Given the description of an element on the screen output the (x, y) to click on. 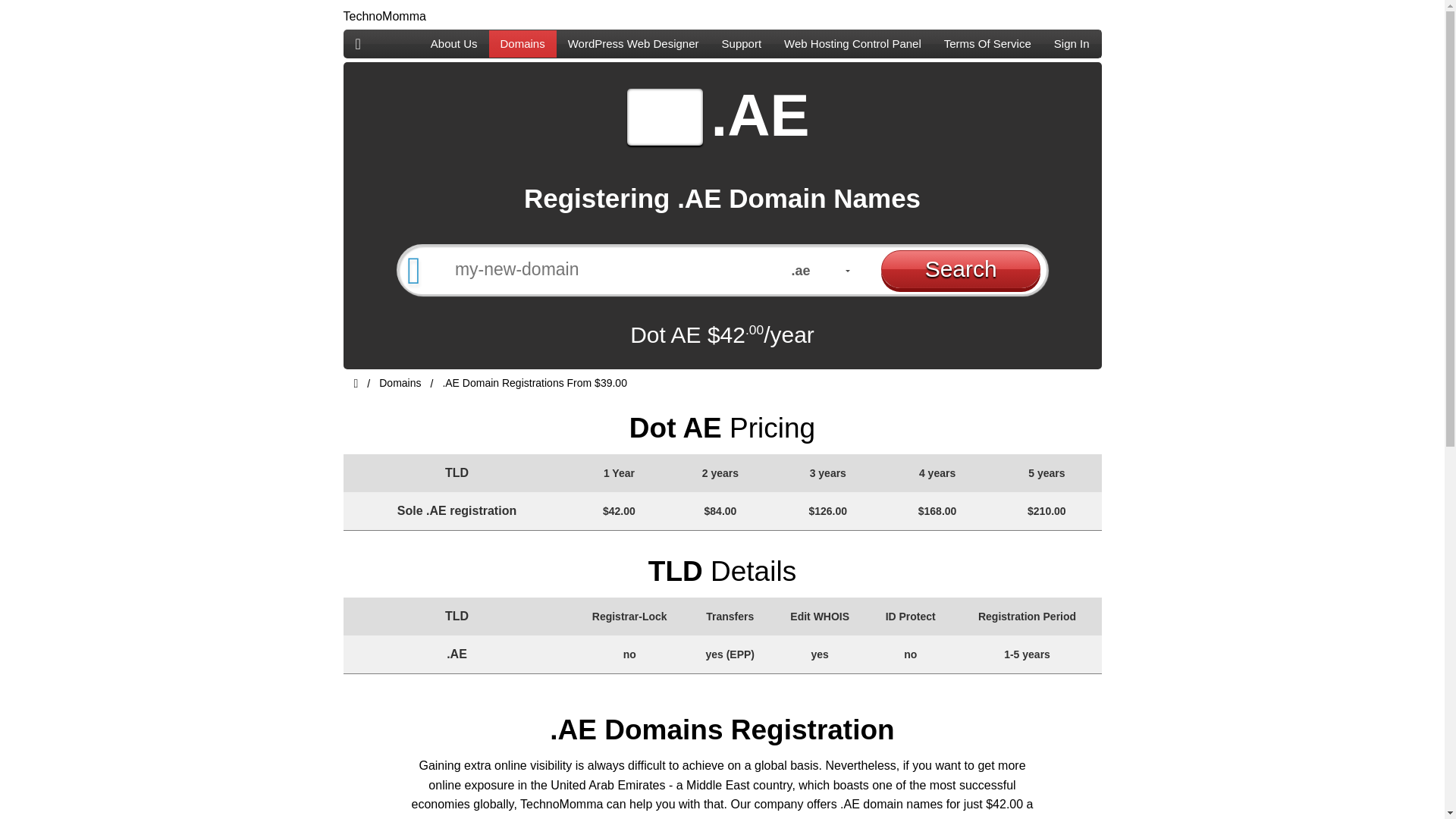
Support (741, 43)
WordPress Web Designer (633, 43)
Domains (522, 43)
About Us (454, 43)
